Given the description of an element on the screen output the (x, y) to click on. 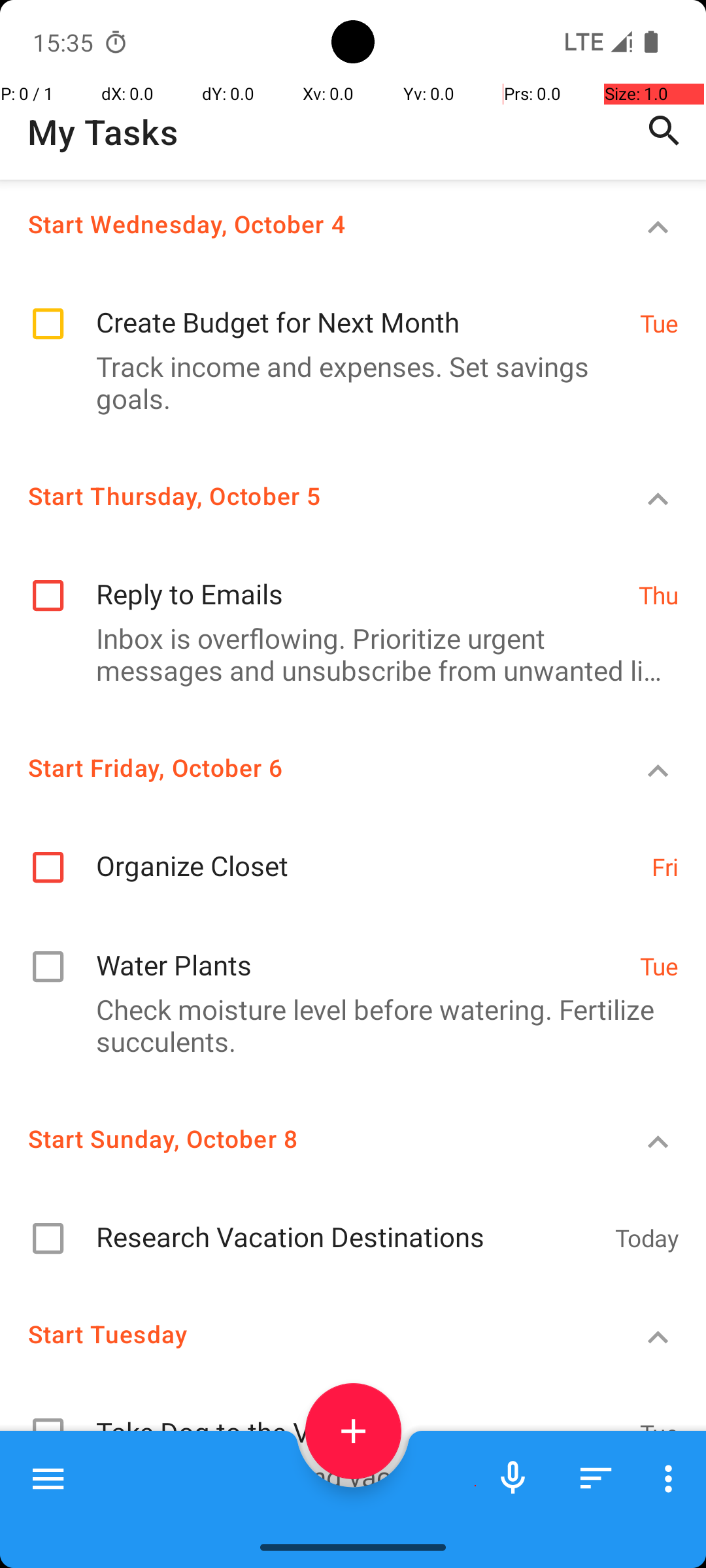
Start Wednesday, October 4 Element type: android.widget.TextView (304, 223)
Start Thursday, October 5 Element type: android.widget.TextView (304, 495)
Start Friday, October 6 Element type: android.widget.TextView (304, 767)
Start Sunday, October 8 Element type: android.widget.TextView (304, 1138)
Start Tuesday Element type: android.widget.TextView (304, 1333)
Track income and expenses. Set savings goals. Element type: android.widget.TextView (346, 381)
Inbox is overflowing. Prioritize urgent messages and unsubscribe from unwanted lists. Element type: android.widget.TextView (346, 653)
Check moisture level before watering. Fertilize succulents. Element type: android.widget.TextView (346, 1024)
Annual checkup and vaccinations due. Element type: android.widget.TextView (346, 1475)
